Given the description of an element on the screen output the (x, y) to click on. 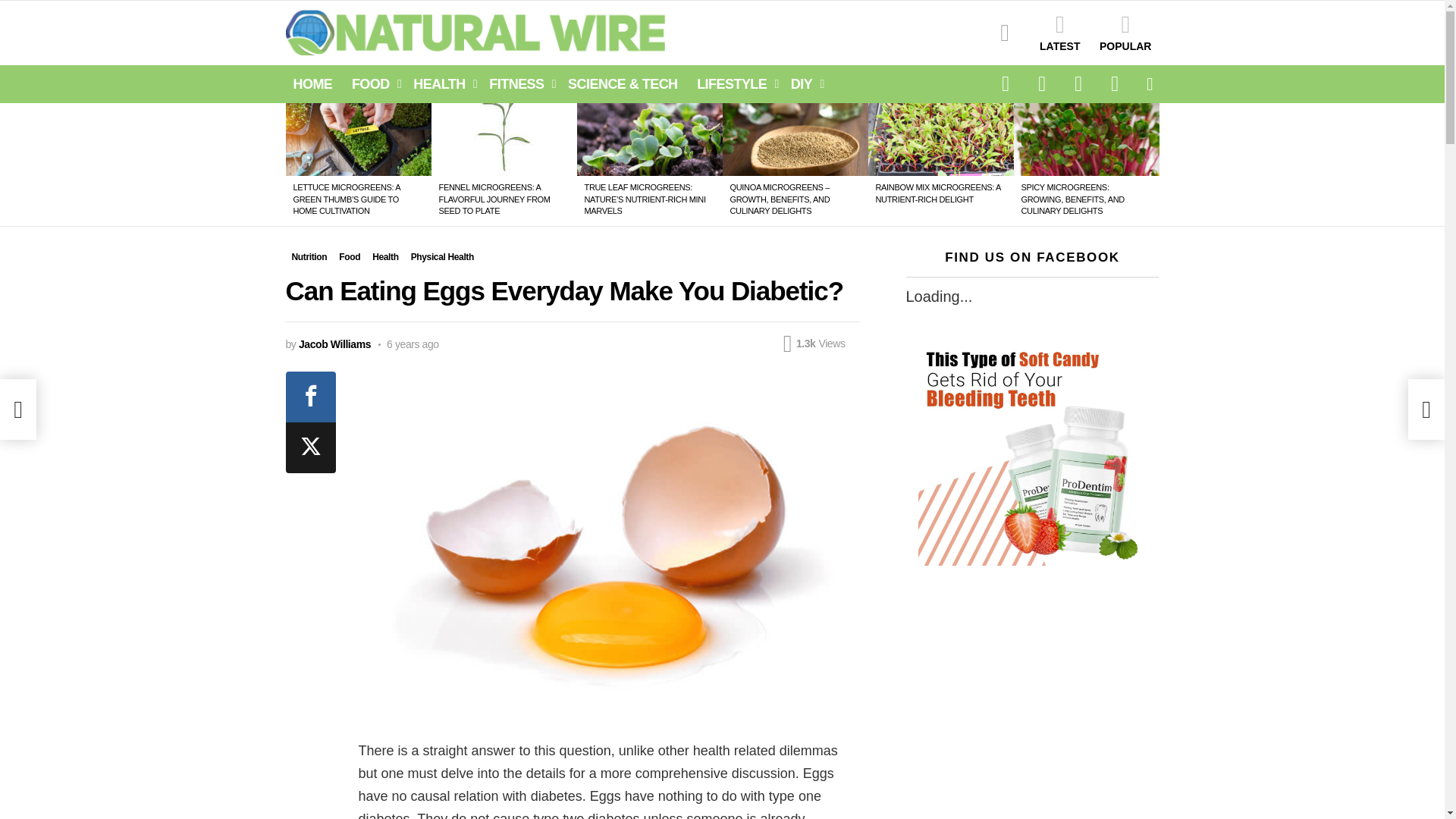
FOOD (372, 83)
youtube (1114, 84)
Posts by Jacob Williams (334, 344)
Spicy Microgreens: Growing, Benefits, and Culinary Delights (1085, 139)
HOME (312, 83)
HEALTH (441, 83)
September 29, 2018, 5:12 am (408, 344)
Fennel Microgreens: A Flavorful Journey from Seed to Plate (503, 139)
tumblr (1077, 84)
LATEST (1059, 32)
Rainbow Mix Microgreens: A Nutrient-Rich Delight (940, 139)
FITNESS (518, 83)
LIFESTYLE (733, 83)
twitter (1041, 84)
DIY (803, 83)
